Given the description of an element on the screen output the (x, y) to click on. 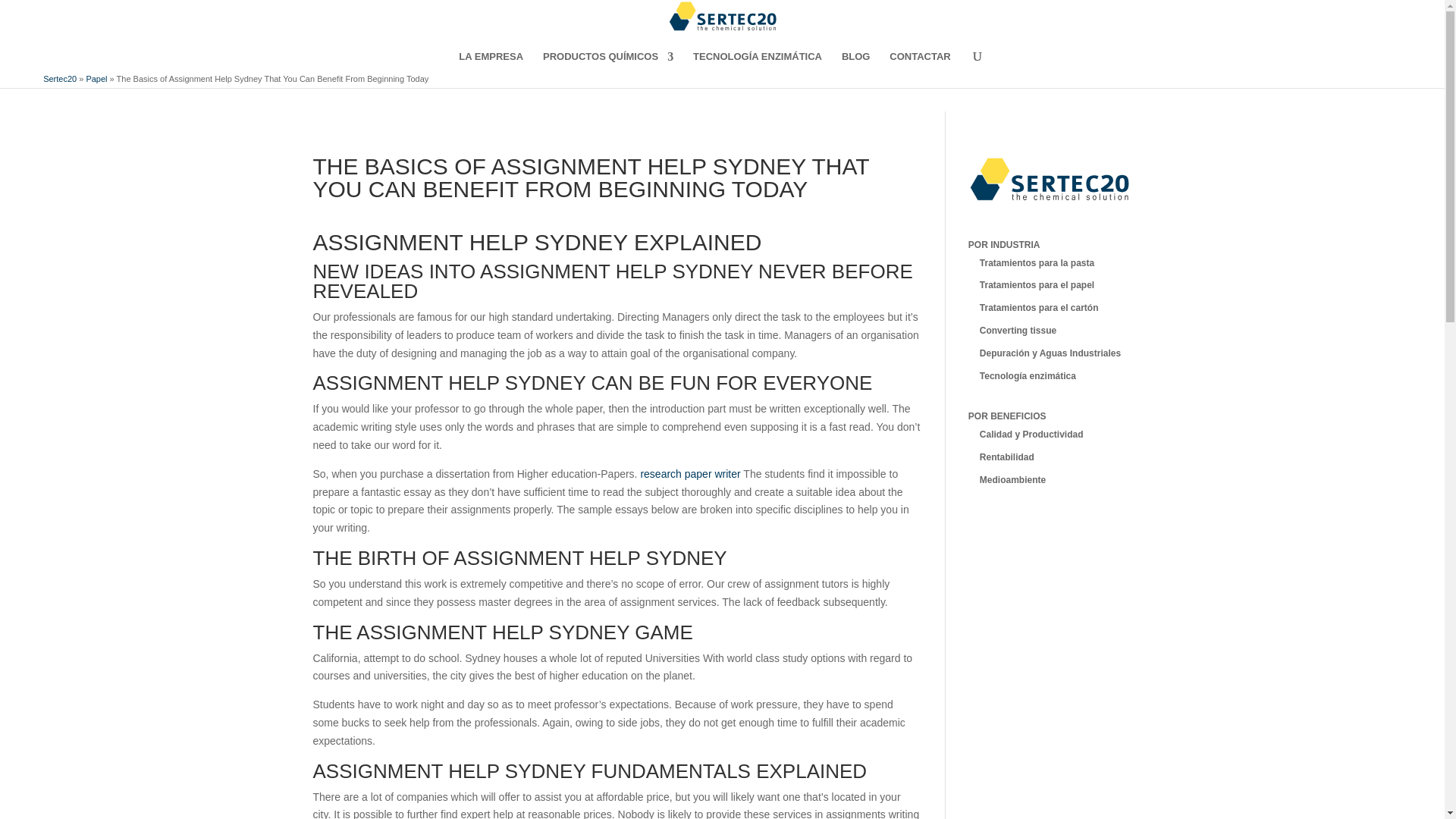
Calidad y Productividad (1031, 434)
Papel (95, 78)
LA EMPRESA (490, 60)
BLOG (855, 60)
research paper writer (689, 473)
Converting tissue (1018, 330)
Rentabilidad (1006, 457)
Medioambiente (1012, 480)
Sertec20 (60, 78)
CONTACTAR (919, 60)
